Given the description of an element on the screen output the (x, y) to click on. 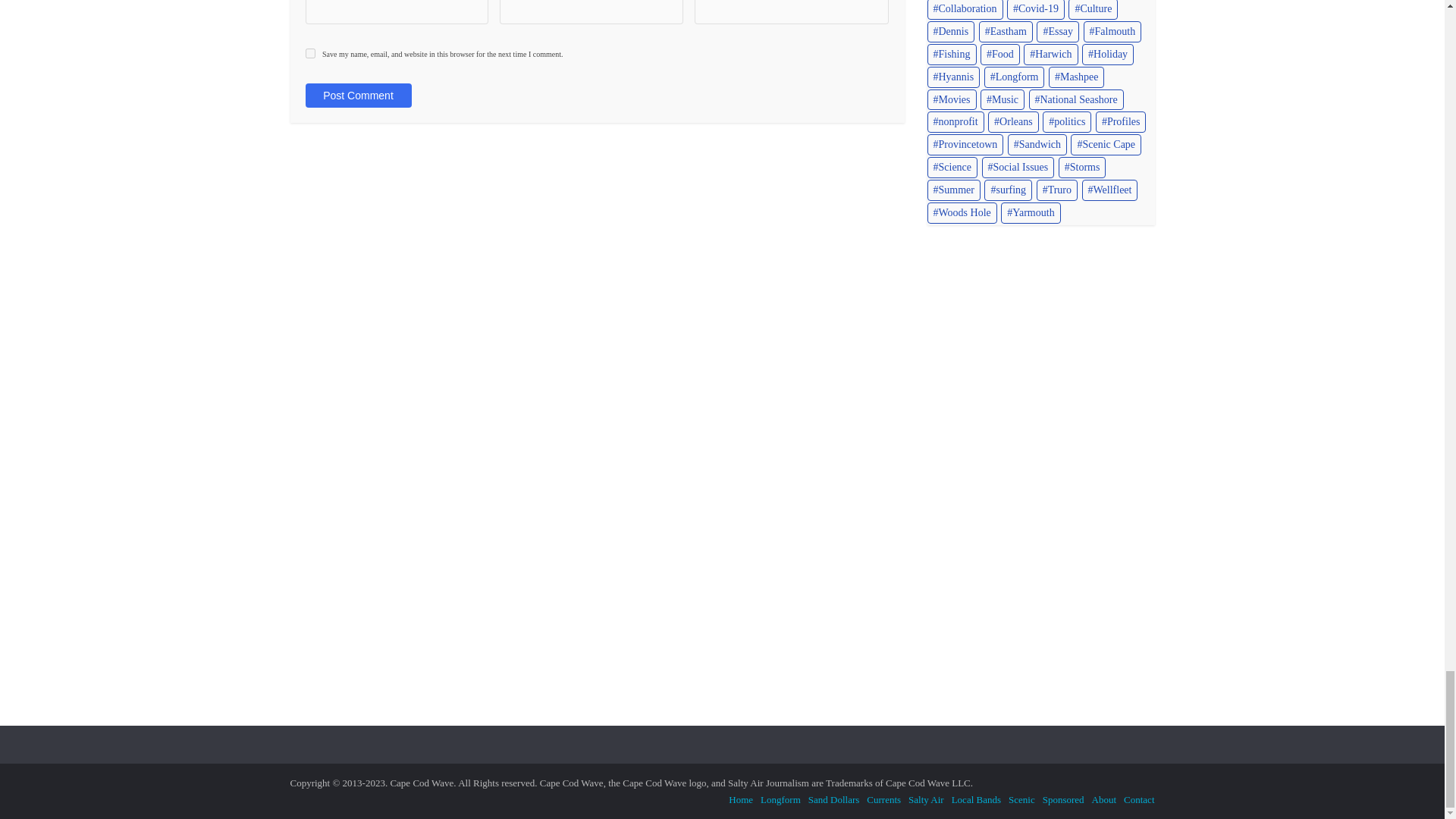
yes (309, 53)
Post Comment (357, 95)
